Given the description of an element on the screen output the (x, y) to click on. 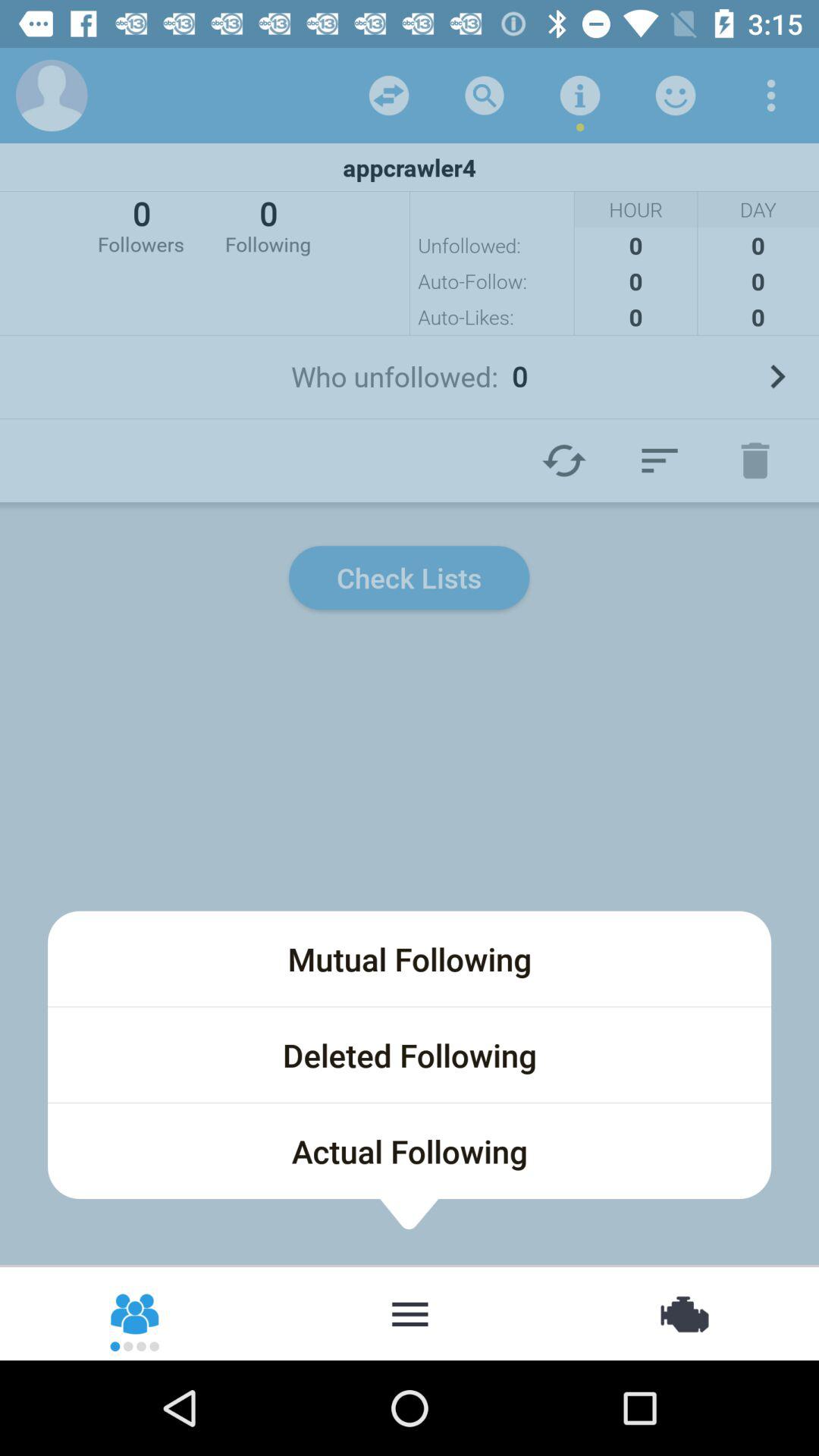
press the icon at the bottom right corner (683, 1312)
